Given the description of an element on the screen output the (x, y) to click on. 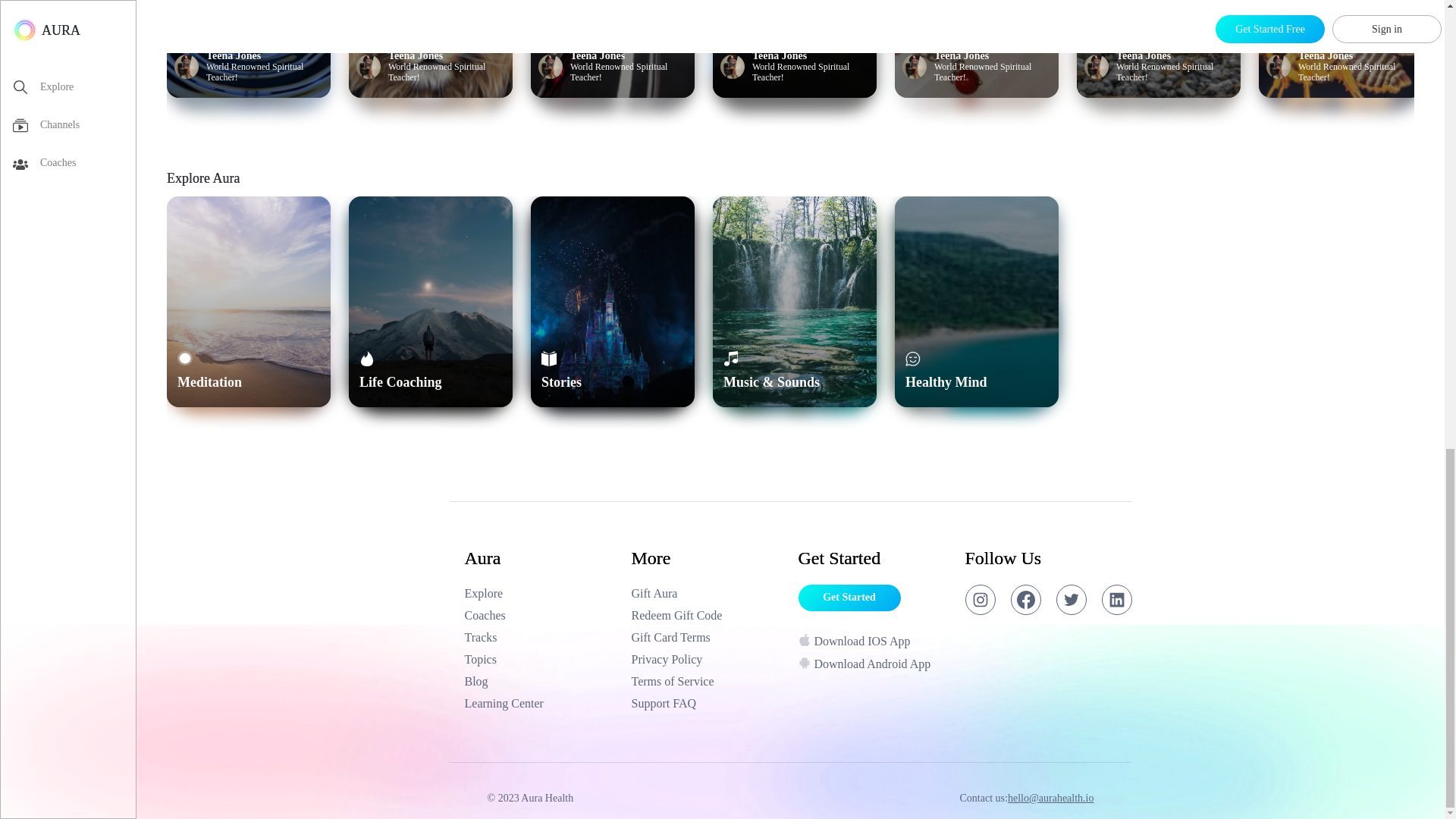
Tracks (539, 637)
Blog (539, 681)
Topics (539, 659)
Explore (539, 593)
Learning Center (539, 703)
Coaches (539, 615)
Gift Aura (706, 593)
Redeem Gift Code (706, 615)
Gift Card Terms (706, 637)
